Given the description of an element on the screen output the (x, y) to click on. 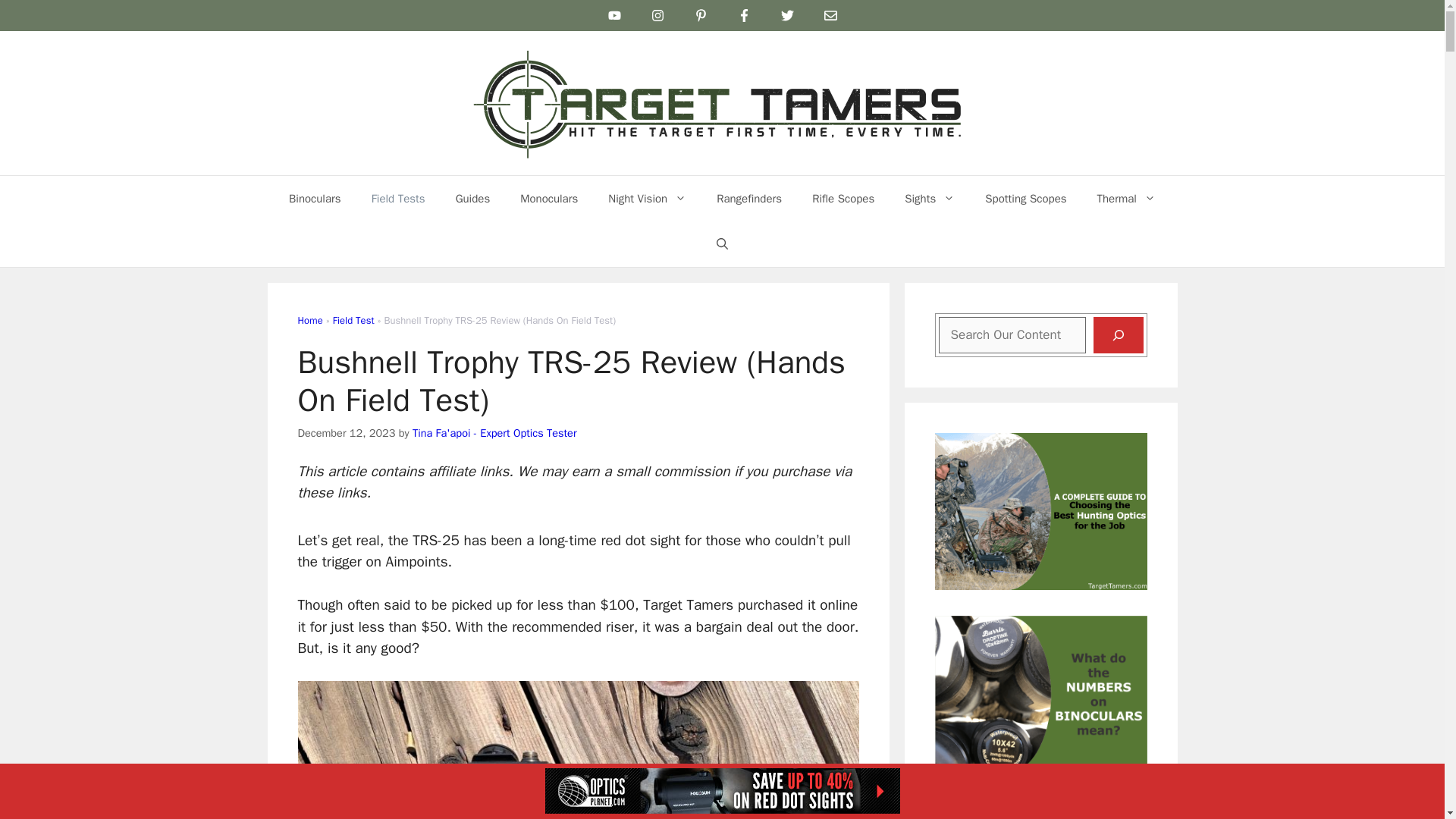
View all posts by Tina Fa'apoi - Expert Optics Tester (494, 432)
Night Vision (646, 198)
Binoculars (314, 198)
Monoculars (548, 198)
Thermal (1125, 198)
Rifle Scopes (842, 198)
Rangefinders (748, 198)
Guides (473, 198)
Sights (929, 198)
Field Tests (398, 198)
What Do the Numbers On Binoculars Mean? (1040, 763)
Spotting Scopes (1025, 198)
